Given the description of an element on the screen output the (x, y) to click on. 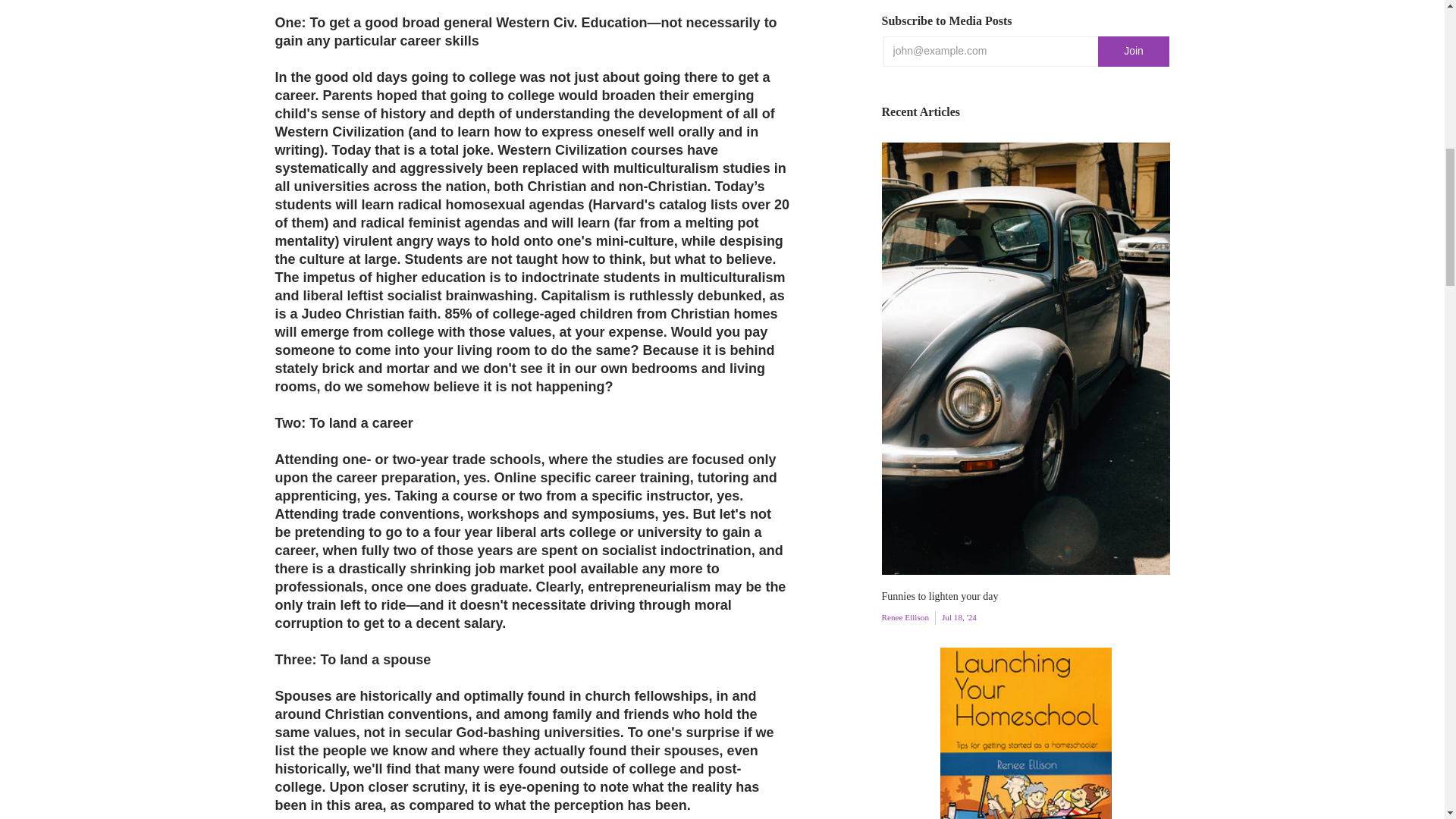
Join (1133, 51)
